Given the description of an element on the screen output the (x, y) to click on. 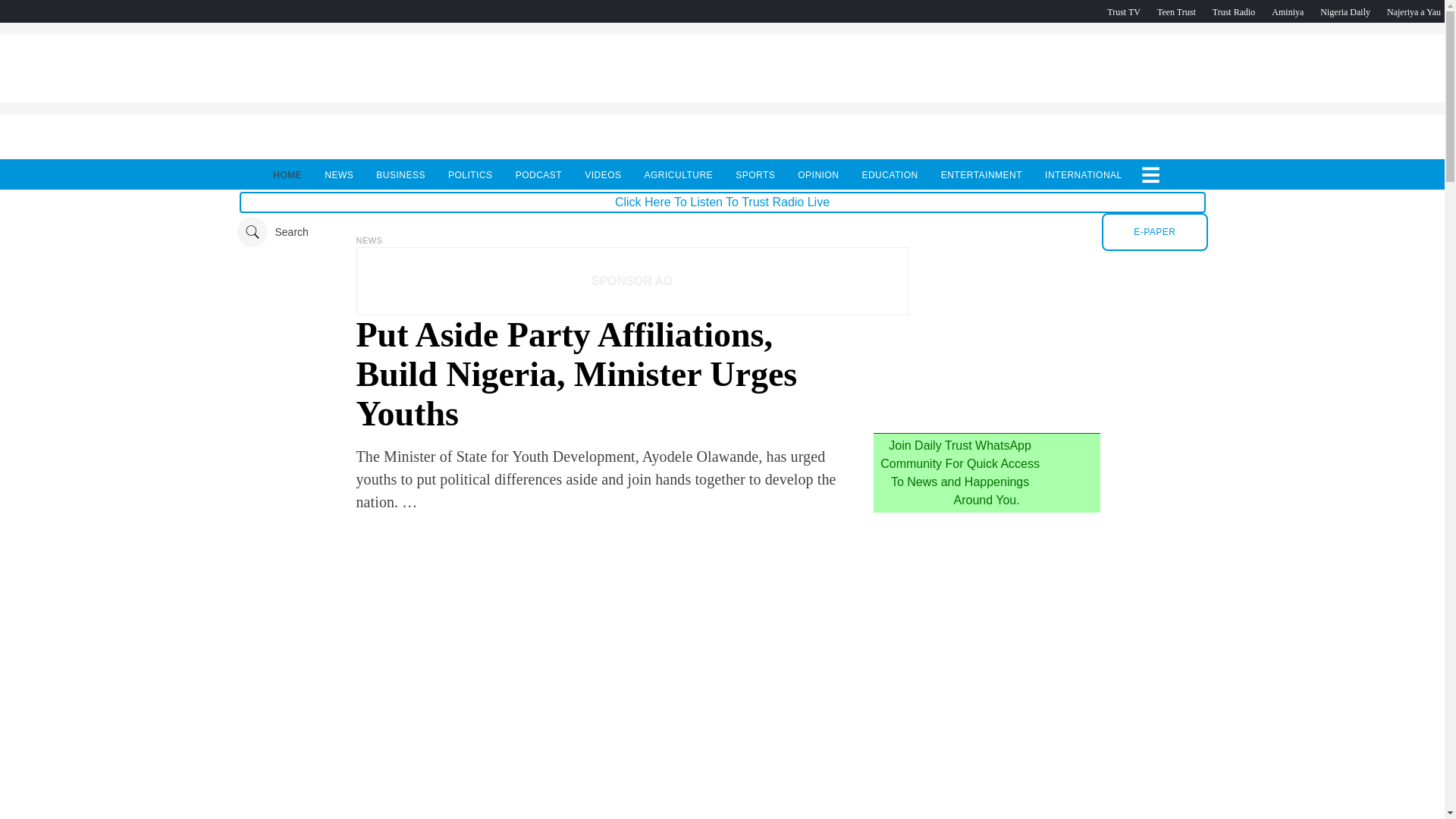
Trust Radio (1233, 11)
Saurari Shirye Shiryenmu (1414, 11)
Aminiya Online (1287, 11)
HOME (287, 174)
NEWS (338, 174)
Teen Trust (1176, 11)
Nigeria Daily (1345, 11)
News (369, 239)
Najeriya a Yau (1414, 11)
E-Paper Subscription (1154, 231)
Trust TV Live (1123, 11)
Search (271, 232)
Mitsubishi (986, 415)
Trust Radio Live (1233, 11)
E-PAPER (1154, 231)
